Given the description of an element on the screen output the (x, y) to click on. 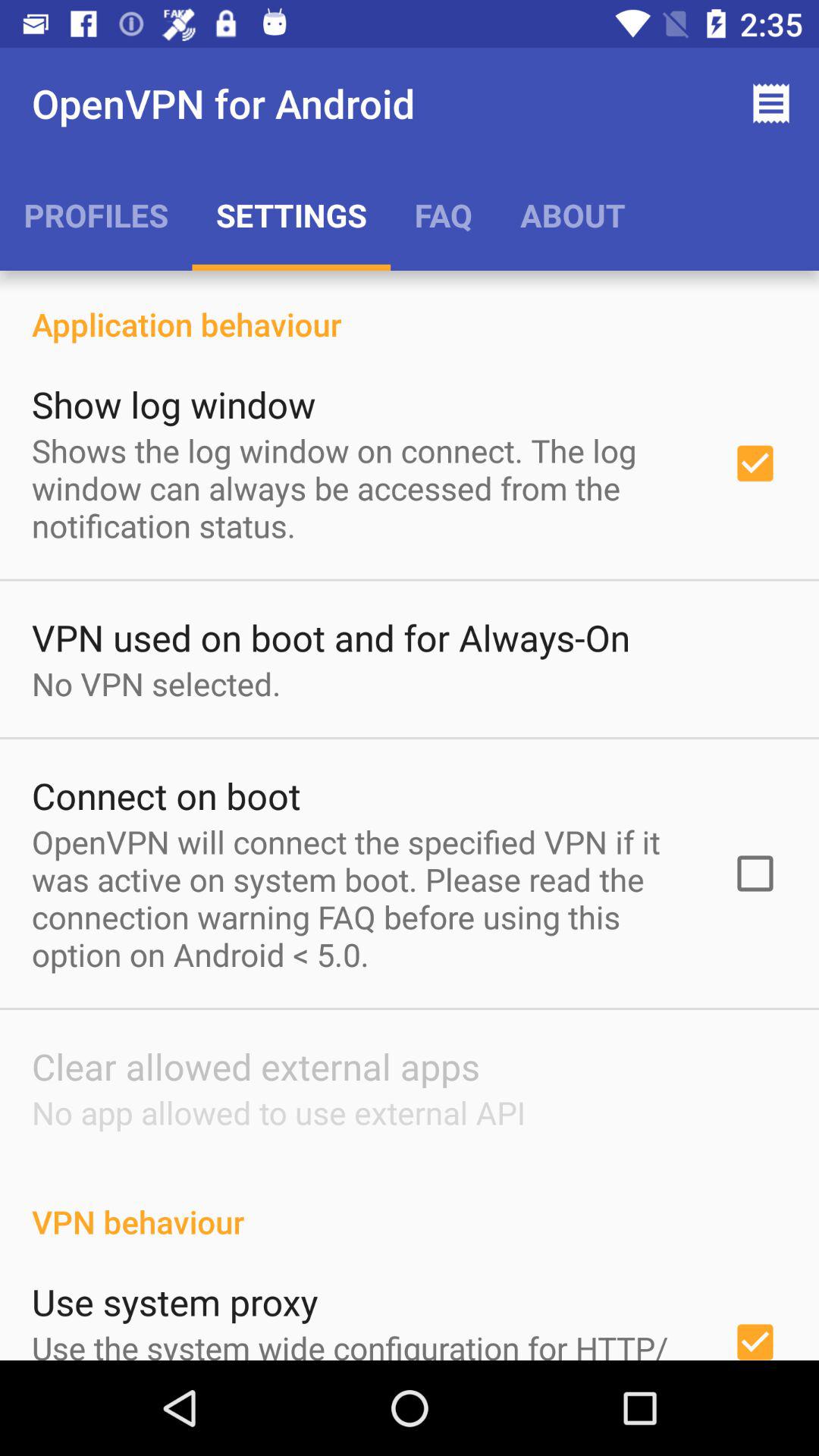
choose the app below the vpn used on app (155, 683)
